Given the description of an element on the screen output the (x, y) to click on. 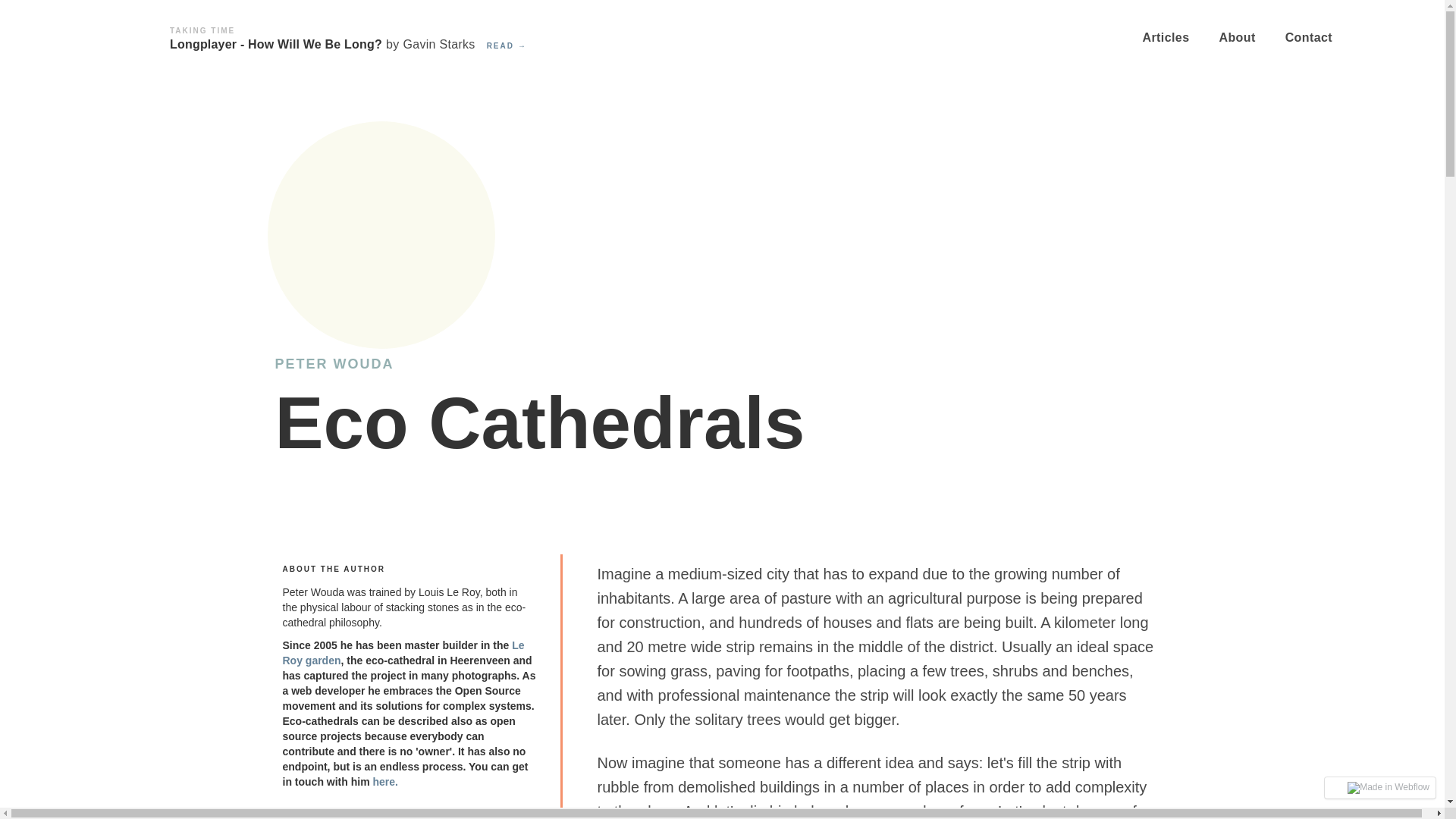
About (1243, 37)
here. (384, 781)
Le Roy garden (403, 652)
Contact (1315, 37)
TAKING TIME (202, 30)
Articles (1173, 37)
